Given the description of an element on the screen output the (x, y) to click on. 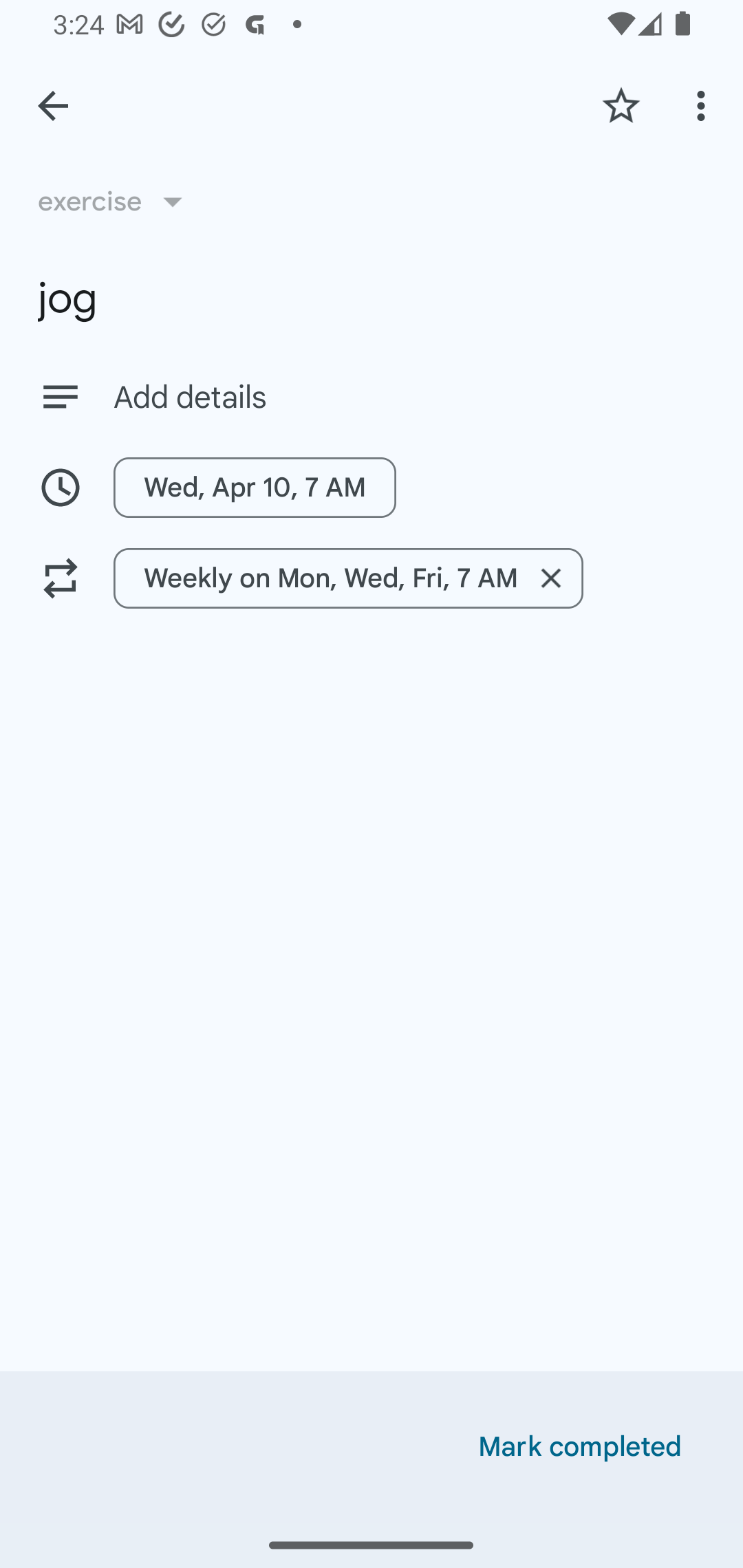
Back (53, 105)
Add star (620, 105)
More options (704, 105)
exercise List, exercise selected, 1 of 18 (116, 201)
jog (371, 298)
Add details (371, 396)
Add details (409, 397)
Wed, Apr 10, 7 AM (371, 487)
Wed, Apr 10, 7 AM (254, 487)
Weekly on Mon, Wed, Fri, 7 AM End repeating (371, 578)
Weekly on Mon, Wed, Fri, 7 AM End repeating (348, 578)
Mark completed (580, 1446)
